Given the description of an element on the screen output the (x, y) to click on. 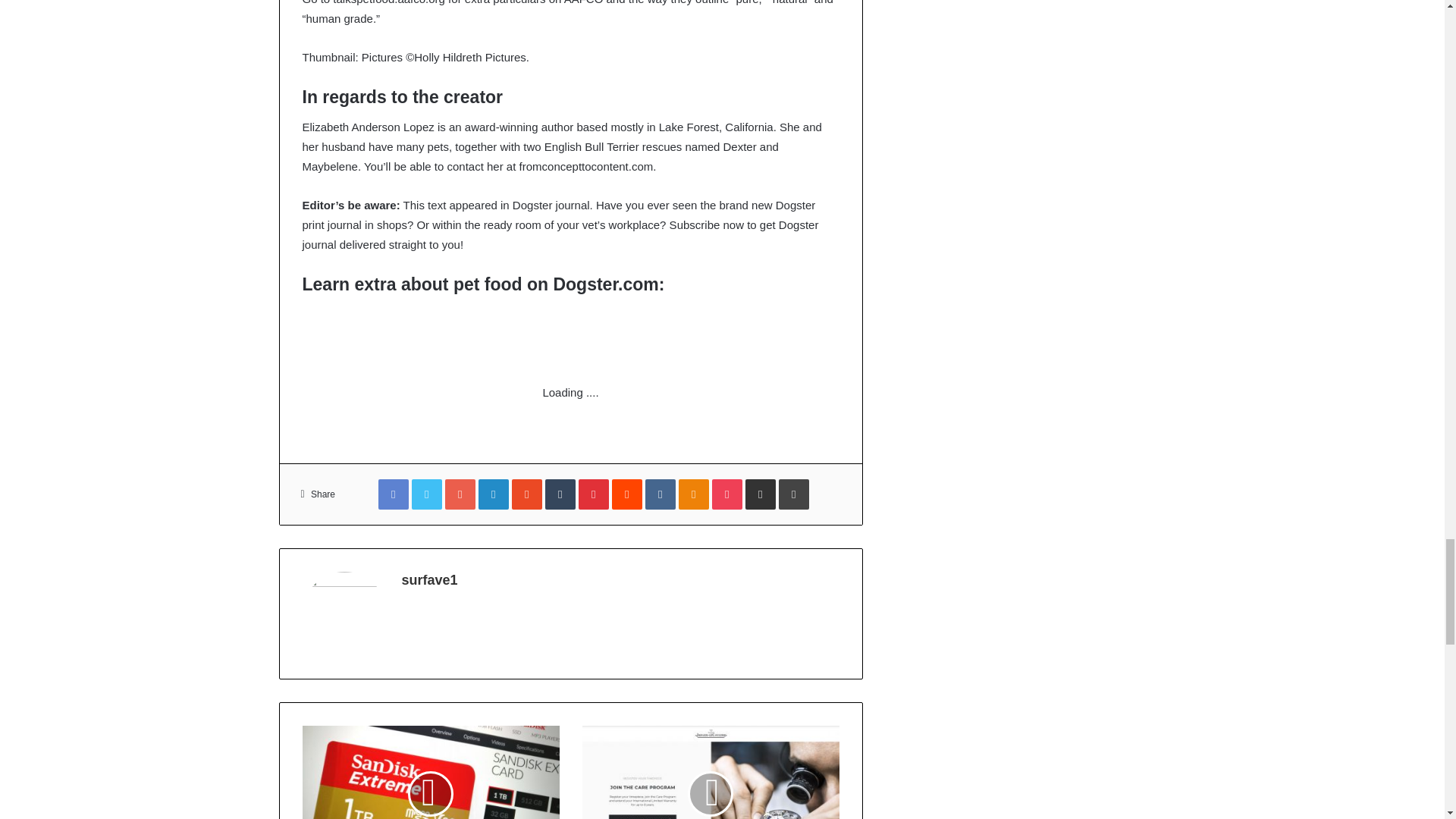
Twitter (427, 494)
LinkedIn (493, 494)
Facebook (393, 494)
StumbleUpon (526, 494)
